Given the description of an element on the screen output the (x, y) to click on. 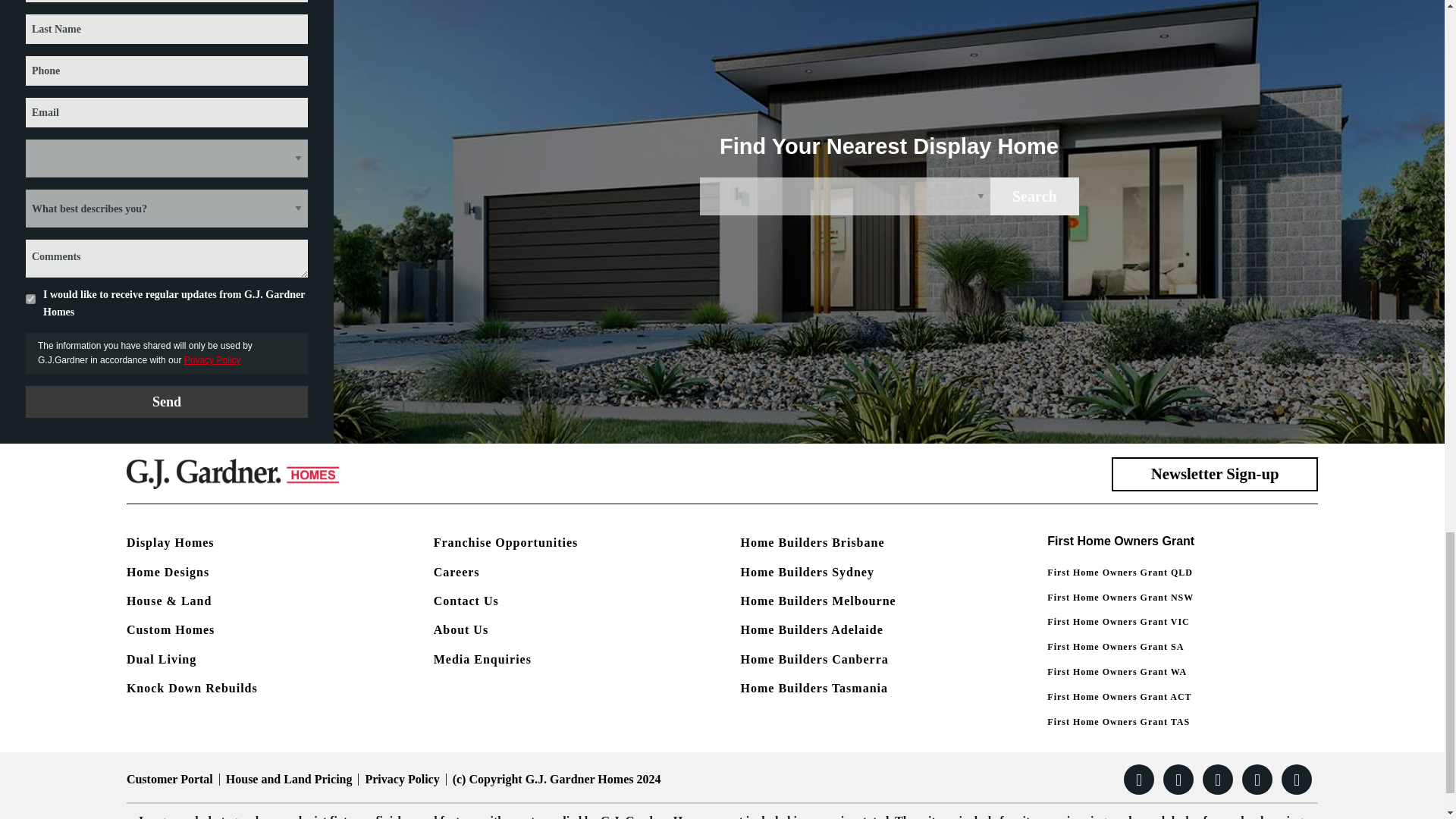
Send (166, 401)
Search (1034, 196)
